Given the description of an element on the screen output the (x, y) to click on. 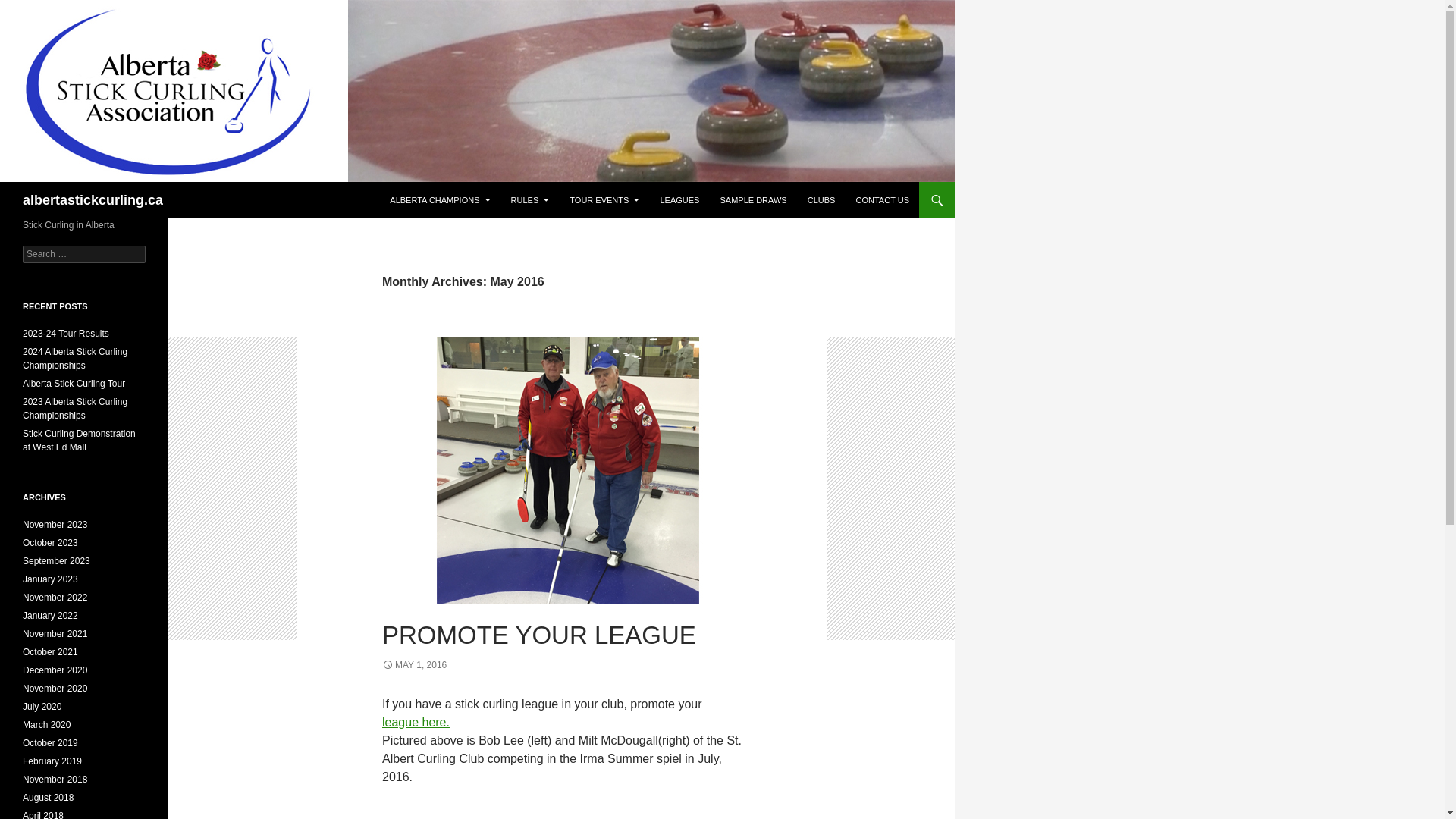
MAY 1, 2016 Element type: text (414, 664)
RULES Element type: text (530, 200)
2024 Alberta Stick Curling Championships Element type: text (74, 358)
September 2023 Element type: text (56, 560)
SAMPLE DRAWS Element type: text (752, 200)
March 2020 Element type: text (46, 724)
November 2018 Element type: text (54, 779)
Search Element type: text (30, 8)
CONTACT US Element type: text (882, 200)
July 2020 Element type: text (41, 706)
TOUR EVENTS Element type: text (604, 200)
league here. Element type: text (415, 721)
LEAGUES Element type: text (679, 200)
ALBERTA CHAMPIONS Element type: text (439, 200)
December 2020 Element type: text (54, 670)
November 2022 Element type: text (54, 597)
Alberta Stick Curling Tour Element type: text (73, 383)
November 2021 Element type: text (54, 633)
August 2018 Element type: text (47, 797)
PROMOTE YOUR LEAGUE Element type: text (539, 635)
October 2019 Element type: text (50, 742)
November 2023 Element type: text (54, 524)
January 2023 Element type: text (50, 579)
October 2023 Element type: text (50, 542)
Stick Curling Demonstration at West Ed Mall Element type: text (78, 440)
January 2022 Element type: text (50, 615)
October 2021 Element type: text (50, 651)
CLUBS Element type: text (821, 200)
February 2019 Element type: text (51, 761)
November 2020 Element type: text (54, 688)
2023 Alberta Stick Curling Championships Element type: text (74, 408)
2023-24 Tour Results Element type: text (65, 333)
albertastickcurling.ca Element type: text (92, 200)
